Given the description of an element on the screen output the (x, y) to click on. 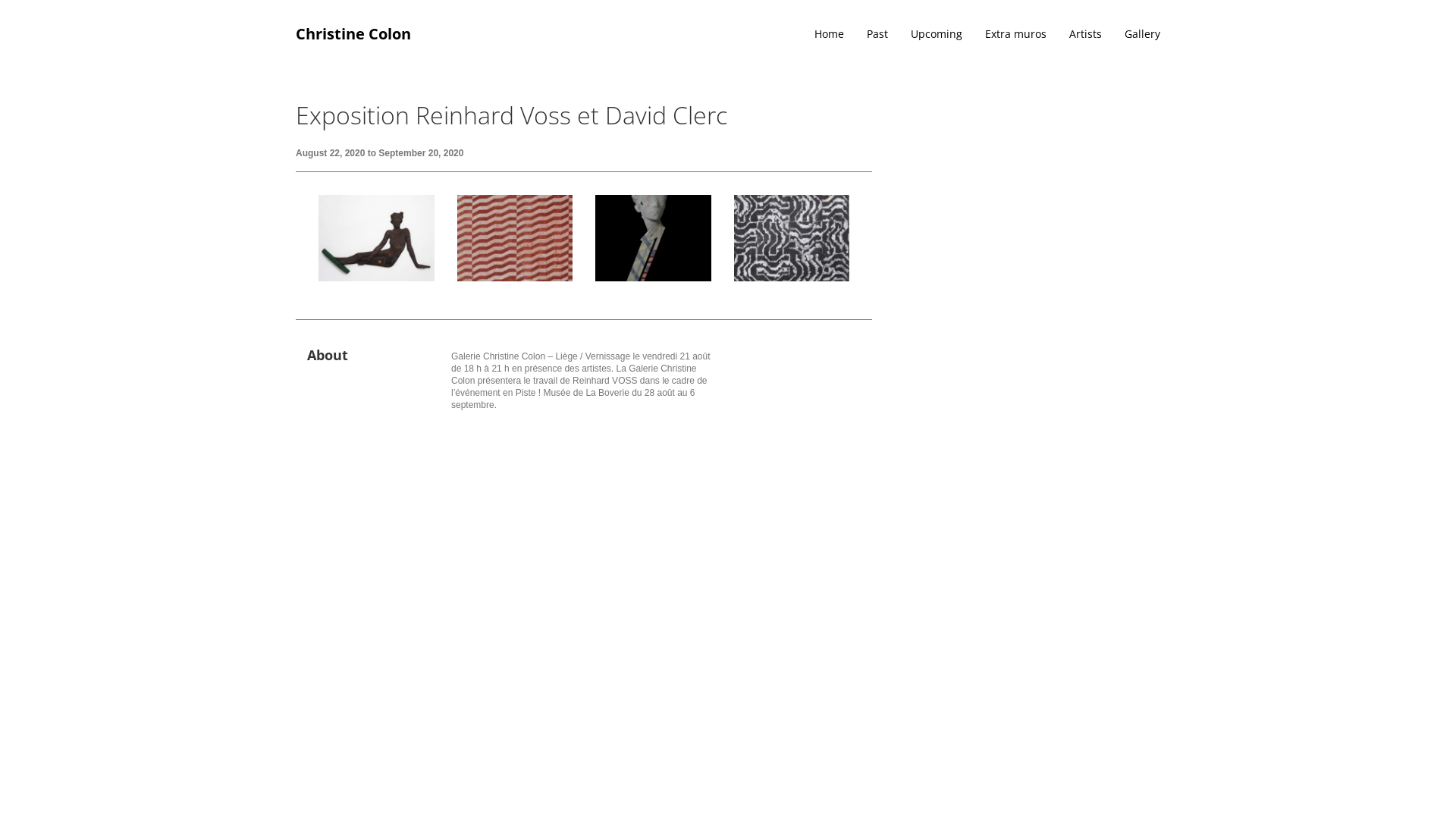
Upcoming Element type: text (925, 34)
Artists Element type: text (1073, 34)
Christine Colon Element type: text (353, 34)
Gallery Element type: text (1130, 34)
Extra muros Element type: text (1004, 34)
Home Element type: text (817, 34)
Past Element type: text (866, 34)
